Given the description of an element on the screen output the (x, y) to click on. 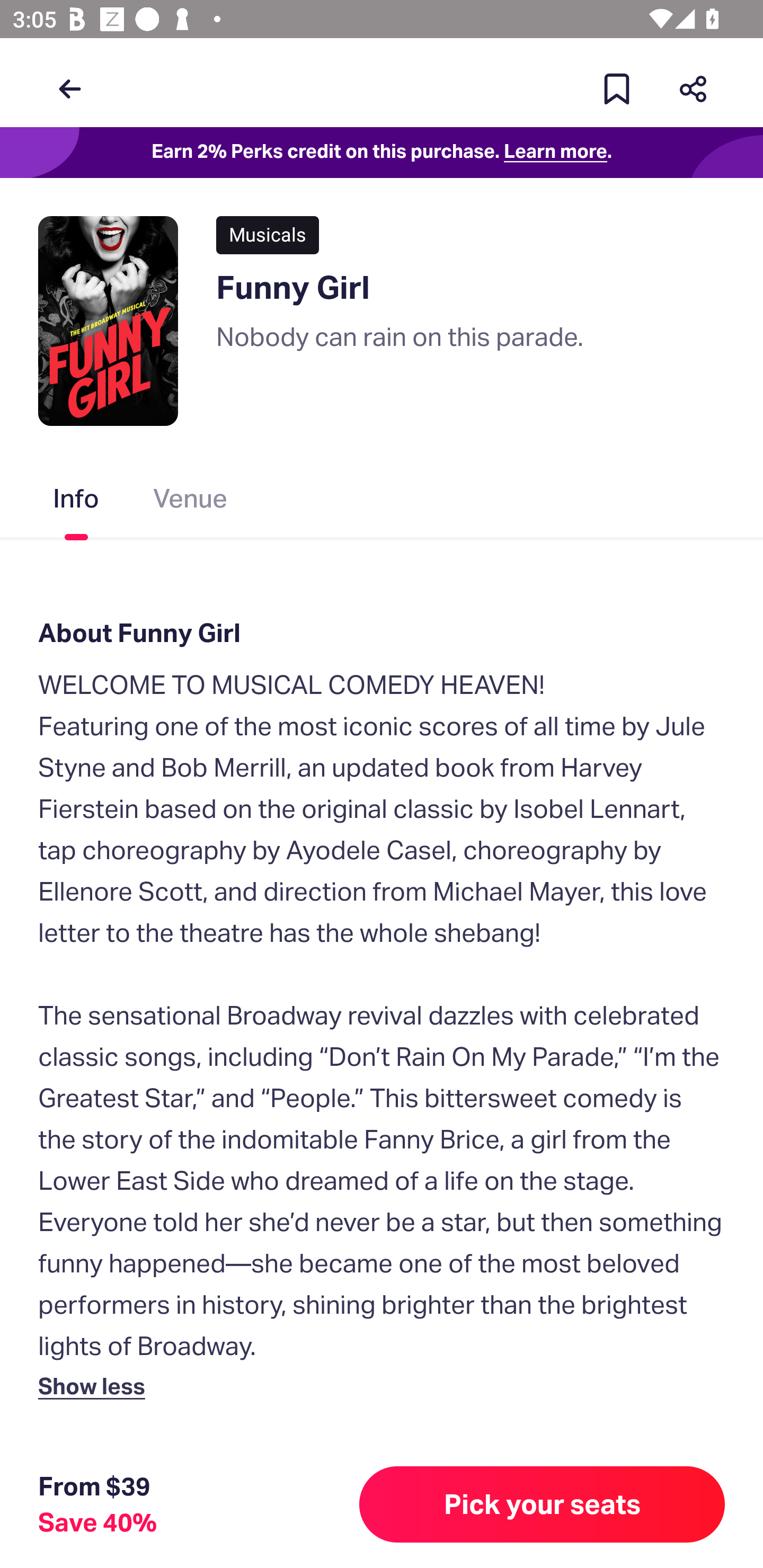
Earn 2% Perks credit on this purchase. Learn more. (381, 152)
Venue (190, 502)
About Funny Girl (381, 632)
Show less (95, 1385)
Pick your seats (541, 1504)
